Given the description of an element on the screen output the (x, y) to click on. 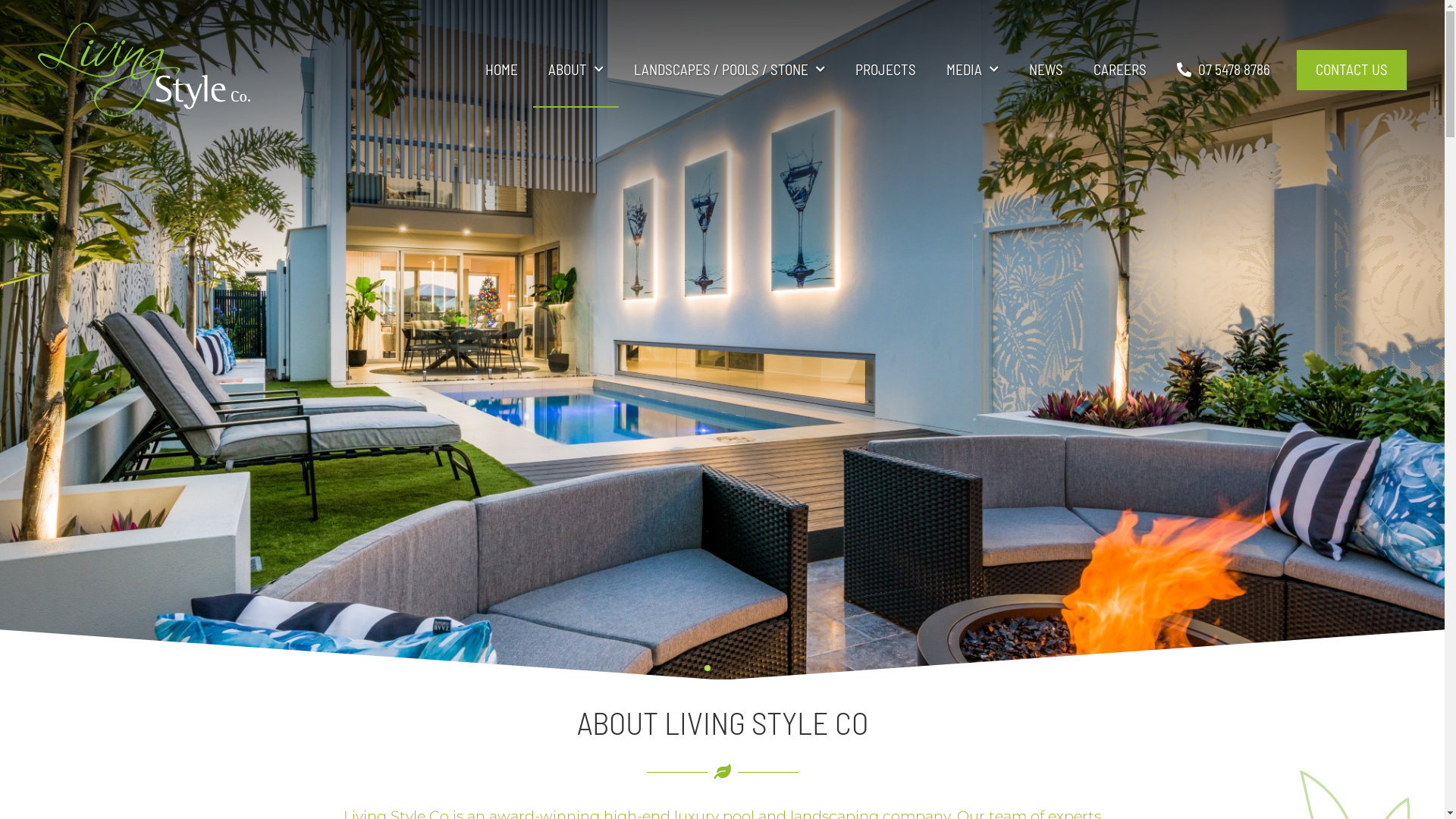
HOME Element type: text (501, 69)
CAREERS Element type: text (1119, 69)
PROJECTS Element type: text (885, 69)
CONTACT US Element type: text (1351, 70)
07 5478 8786 Element type: text (1223, 69)
ABOUT Element type: text (575, 69)
NEWS Element type: text (1045, 69)
MEDIA Element type: text (972, 69)
LANDSCAPES / POOLS / STONE Element type: text (729, 69)
